Given the description of an element on the screen output the (x, y) to click on. 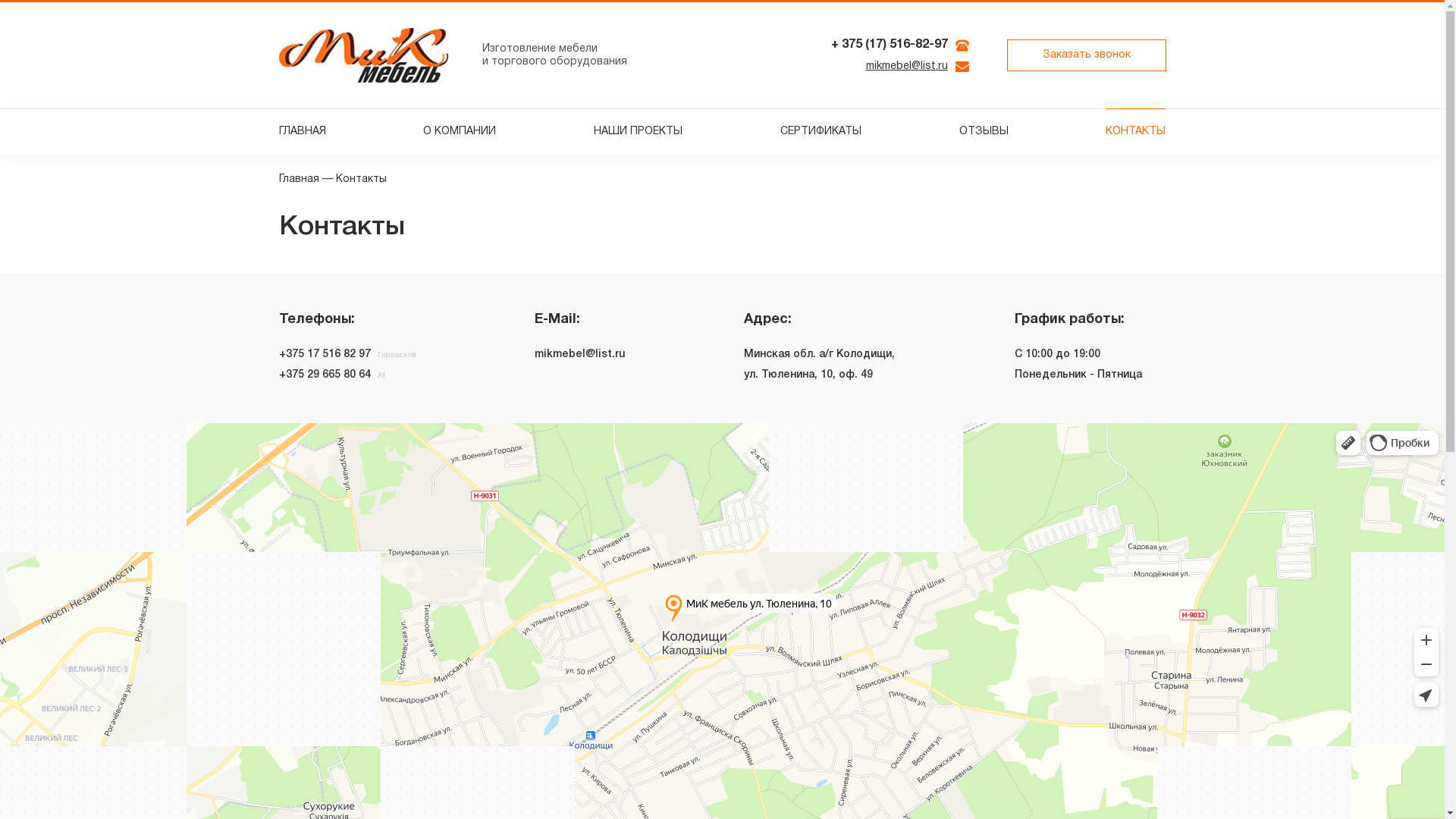
+ 375 (17) 516-82-97 Element type: text (889, 44)
mikmebel@list.ru Element type: text (906, 65)
